Given the description of an element on the screen output the (x, y) to click on. 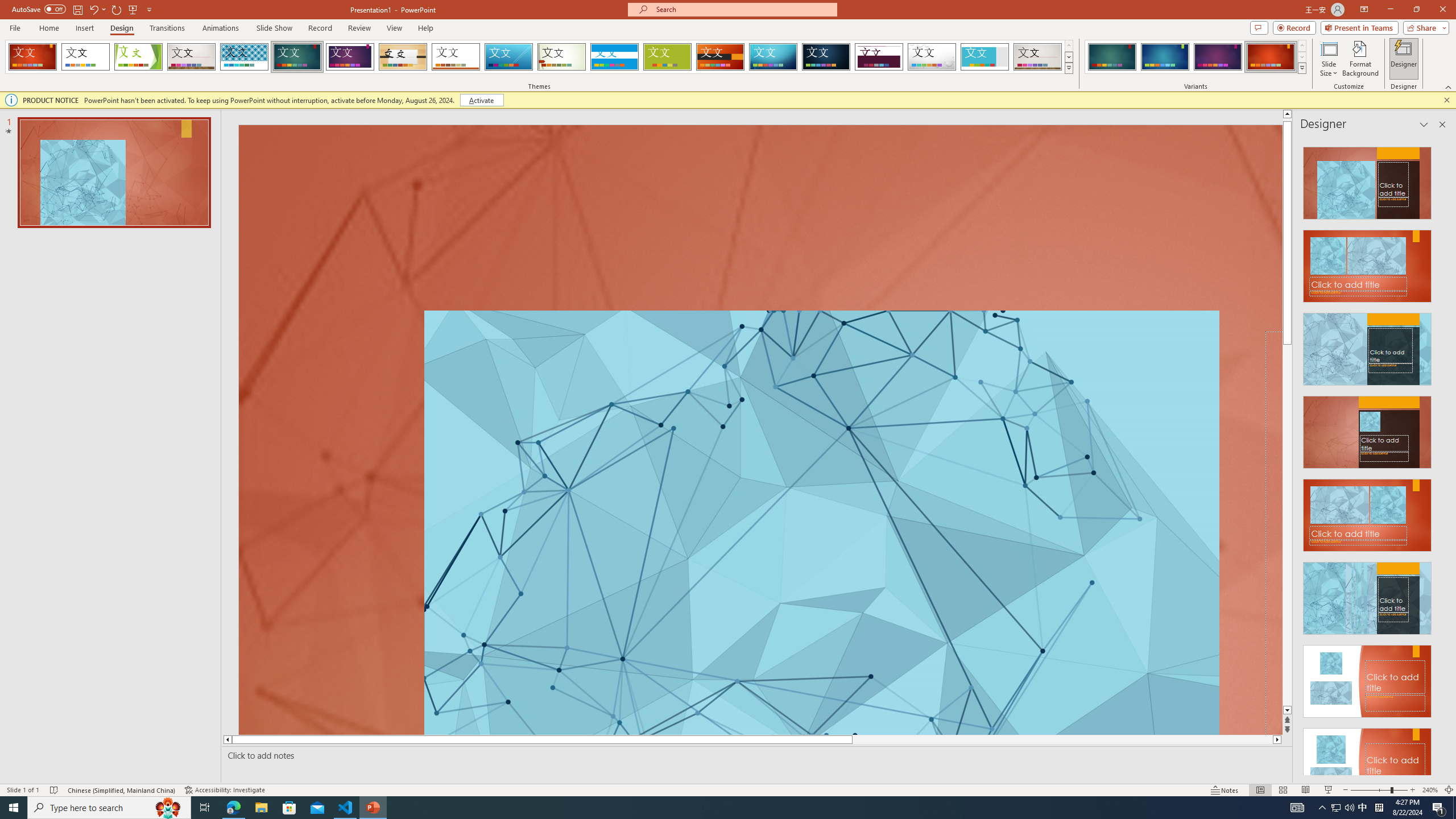
Dividend (879, 56)
Integral (244, 56)
Droplet (931, 56)
AutomationID: SlideThemesGallery (539, 56)
